Given the description of an element on the screen output the (x, y) to click on. 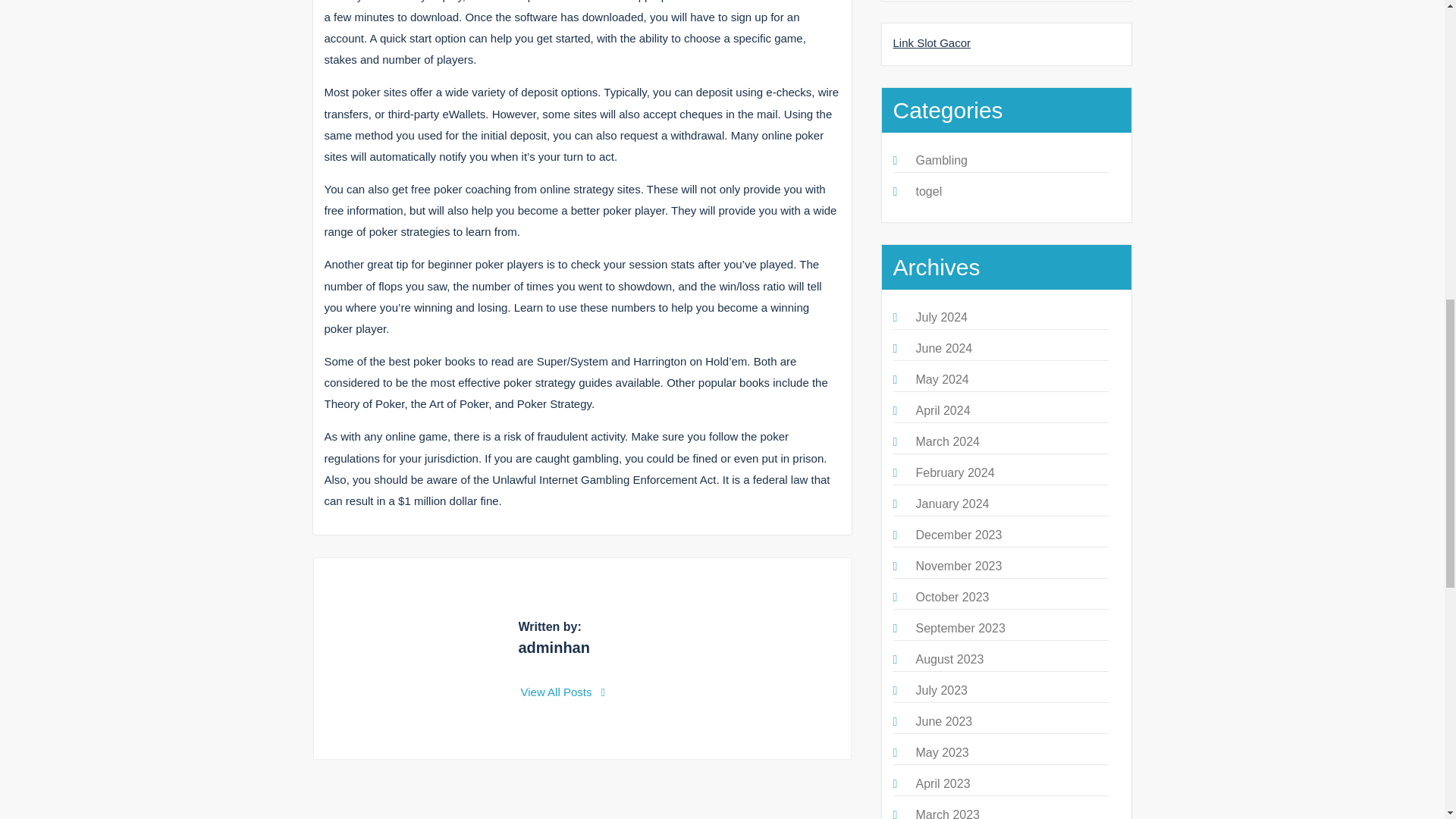
July 2024 (941, 317)
May 2023 (942, 752)
August 2023 (949, 658)
April 2023 (943, 783)
July 2023 (941, 689)
September 2023 (960, 627)
View All Posts (562, 691)
March 2024 (947, 440)
May 2024 (942, 379)
June 2024 (943, 348)
April 2024 (943, 410)
June 2023 (943, 721)
October 2023 (952, 596)
March 2023 (947, 813)
November 2023 (959, 565)
